Given the description of an element on the screen output the (x, y) to click on. 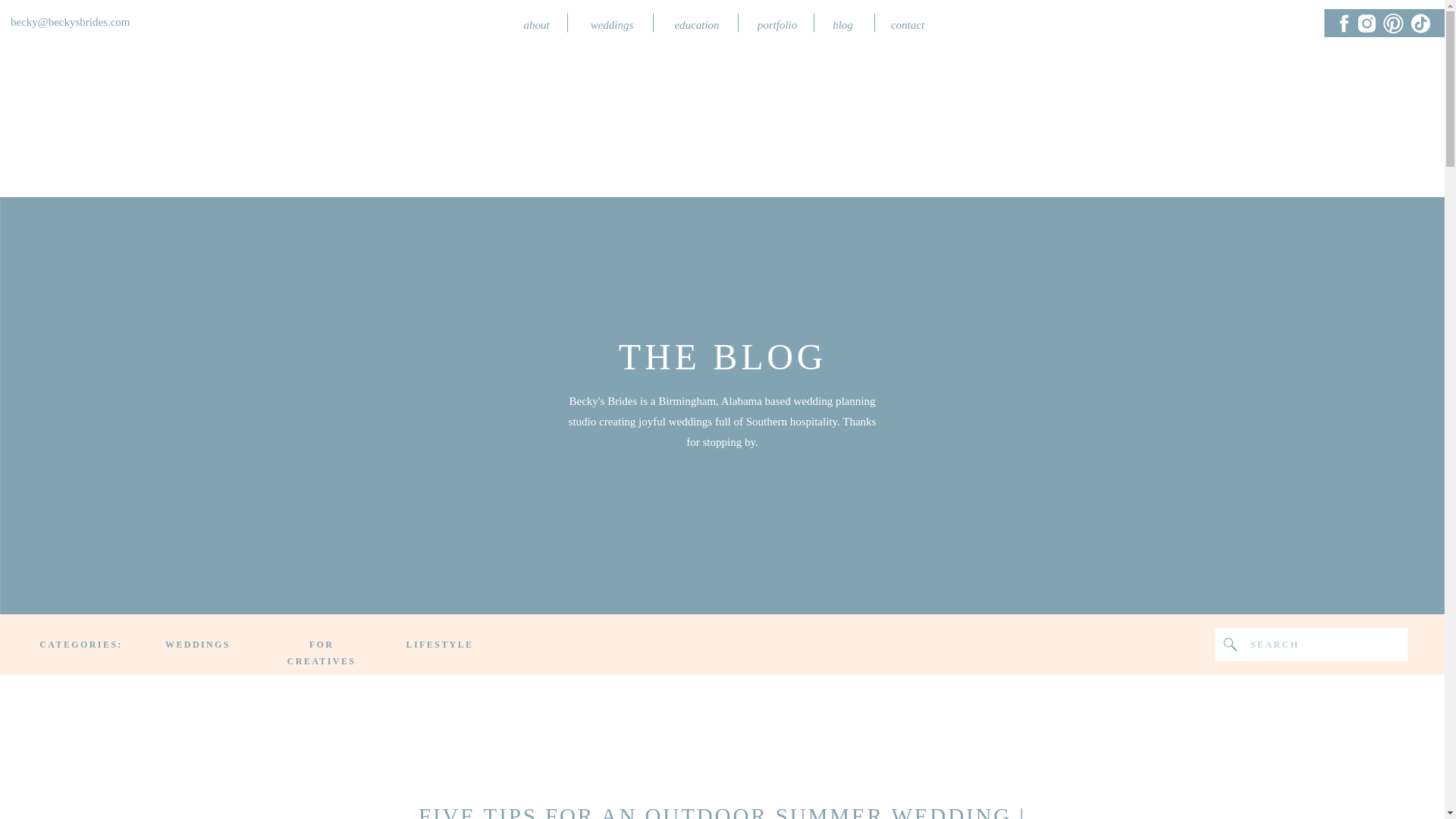
FOR CREATIVES (321, 644)
portfolio (777, 22)
blog (843, 22)
CATEGORIES: (80, 644)
LIFESTYLE (439, 644)
about (535, 22)
education (695, 22)
WEDDINGS (197, 644)
contact (907, 22)
weddings (611, 22)
